Given the description of an element on the screen output the (x, y) to click on. 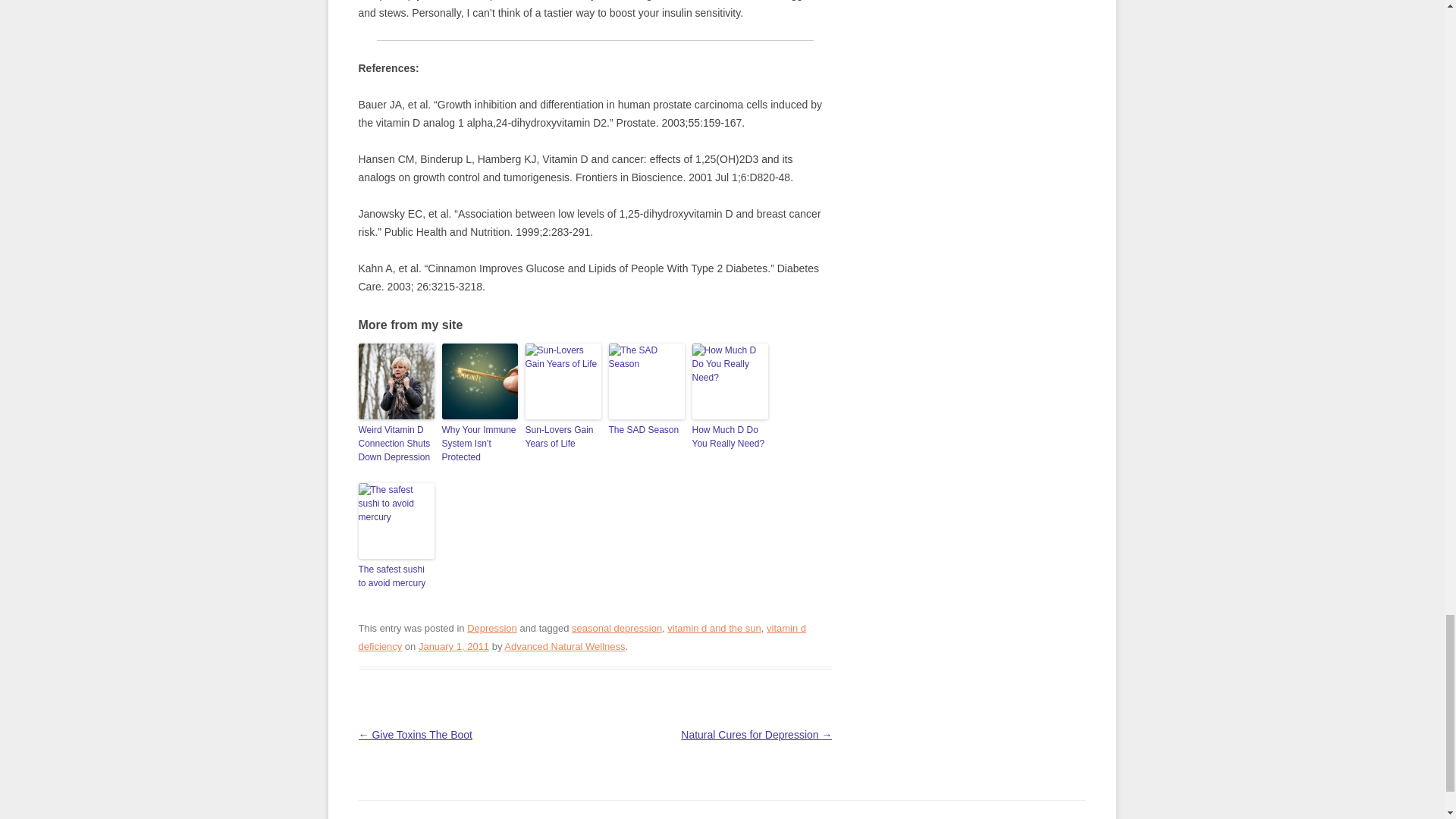
vitamin d and the sun (713, 627)
Depression (491, 627)
How Much D Do You Really Need? (729, 436)
Weird Vitamin D Connection Shuts Down Depression (395, 443)
vitamin d deficiency (581, 636)
January 1, 2011 (454, 645)
10:57 pm (454, 645)
The SAD Season (646, 429)
seasonal depression (617, 627)
Advanced Natural Wellness (563, 645)
The safest sushi to avoid mercury (395, 575)
Sun-Lovers Gain Years of Life (561, 436)
View all posts by Advanced Natural Wellness (563, 645)
